Given the description of an element on the screen output the (x, y) to click on. 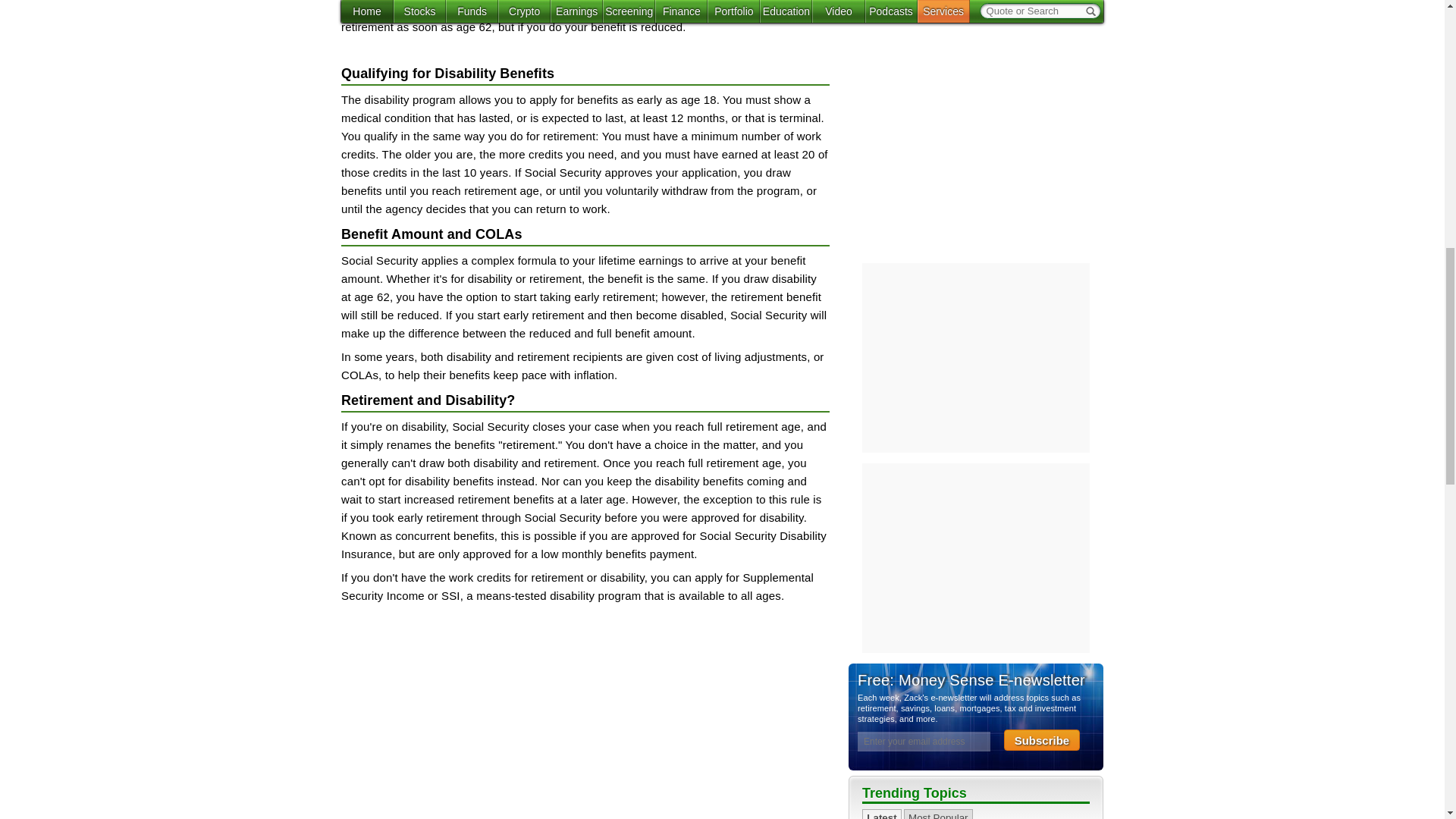
Advertisement (584, 719)
Subscribe (1042, 22)
